Given the description of an element on the screen output the (x, y) to click on. 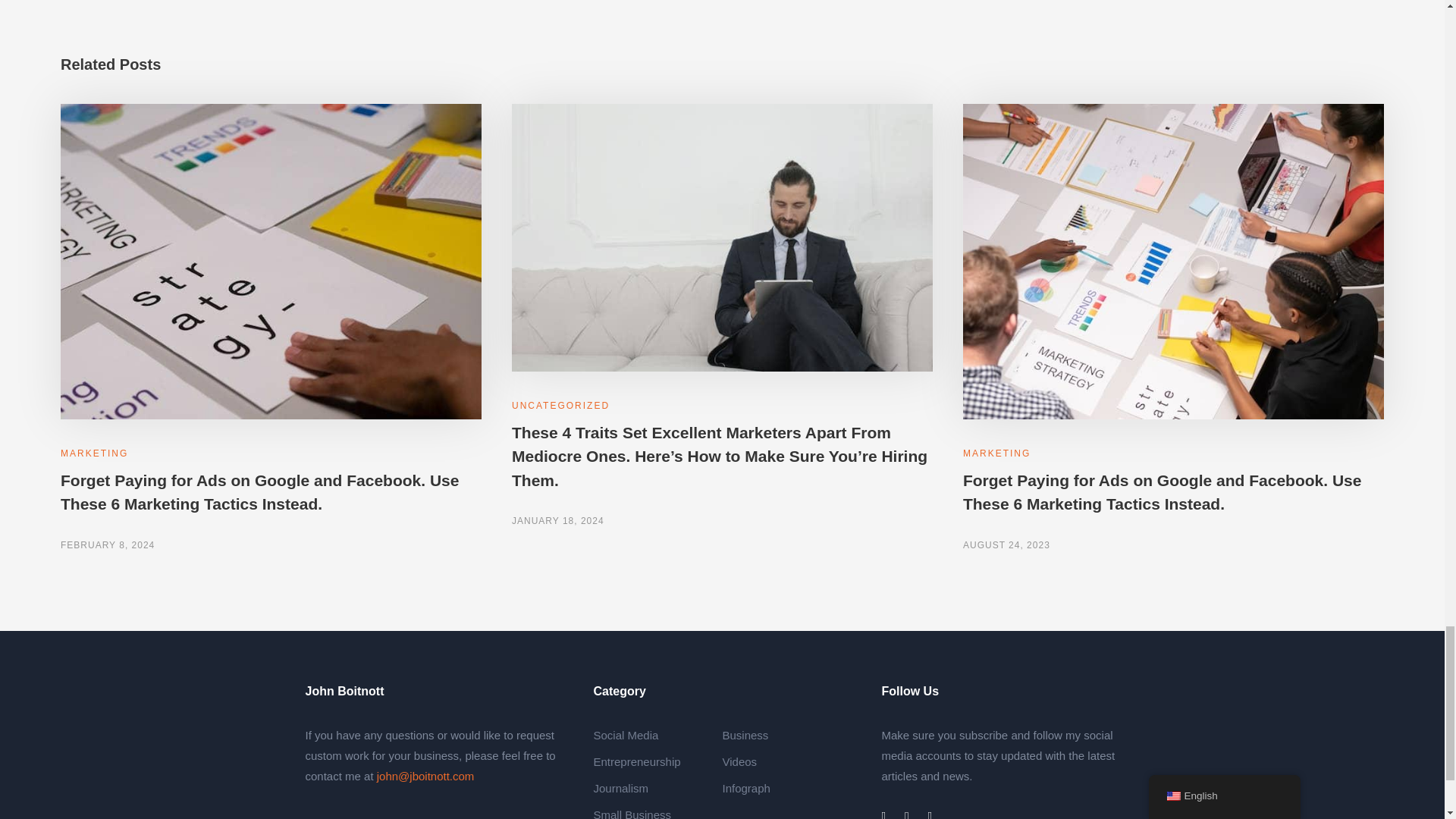
MARKETING (94, 452)
